Given the description of an element on the screen output the (x, y) to click on. 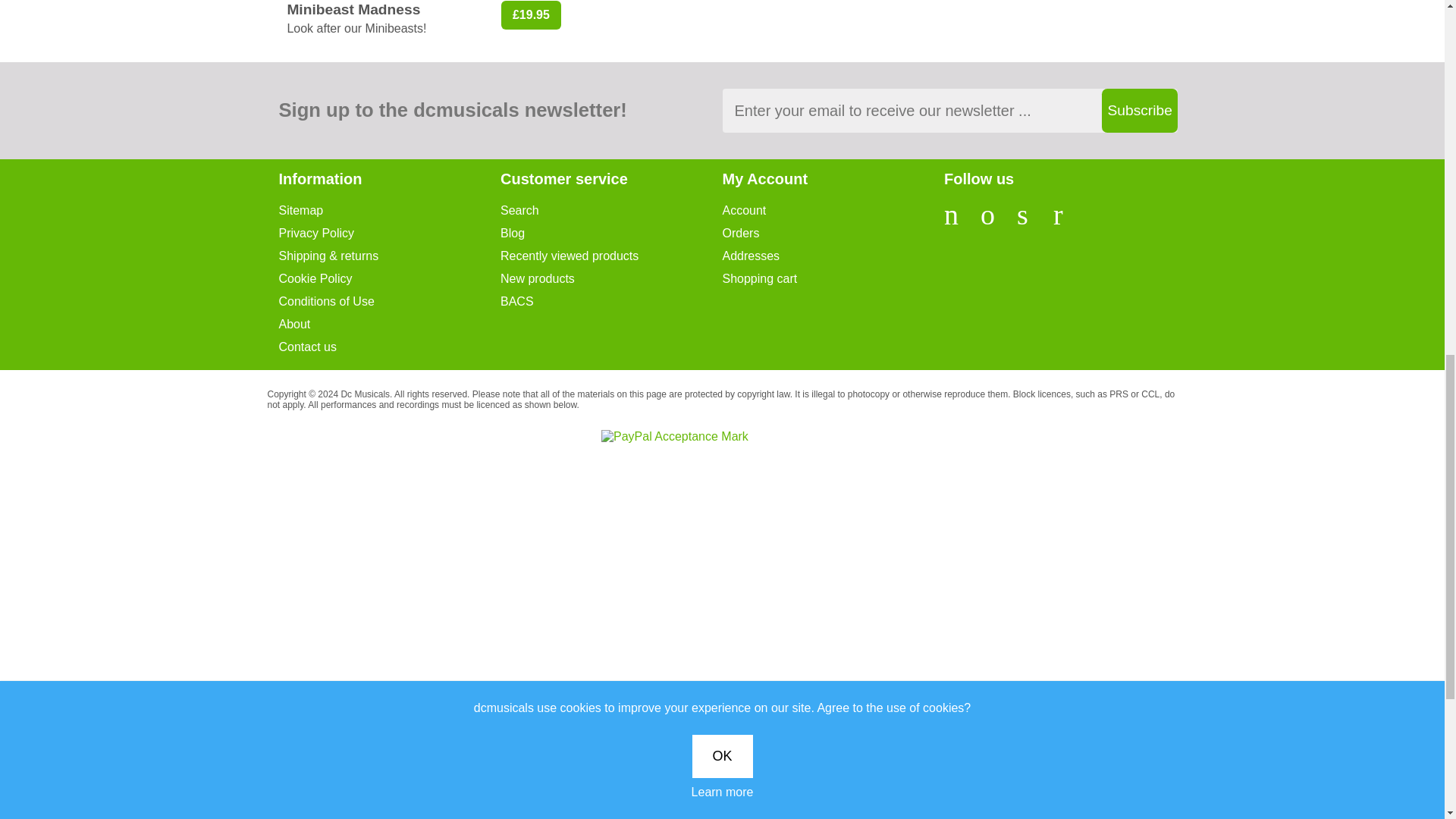
Privacy Policy (389, 233)
Addresses (832, 255)
Orders (832, 233)
Search (611, 210)
Sitemap (389, 210)
Blog (611, 233)
Cookie Policy (389, 278)
Account (832, 210)
Shopping cart (832, 278)
How PayPal Works (674, 435)
Facebook (957, 221)
Conditions of Use (389, 301)
Subscribe (1138, 110)
New products (611, 278)
Recently viewed products (611, 255)
